Given the description of an element on the screen output the (x, y) to click on. 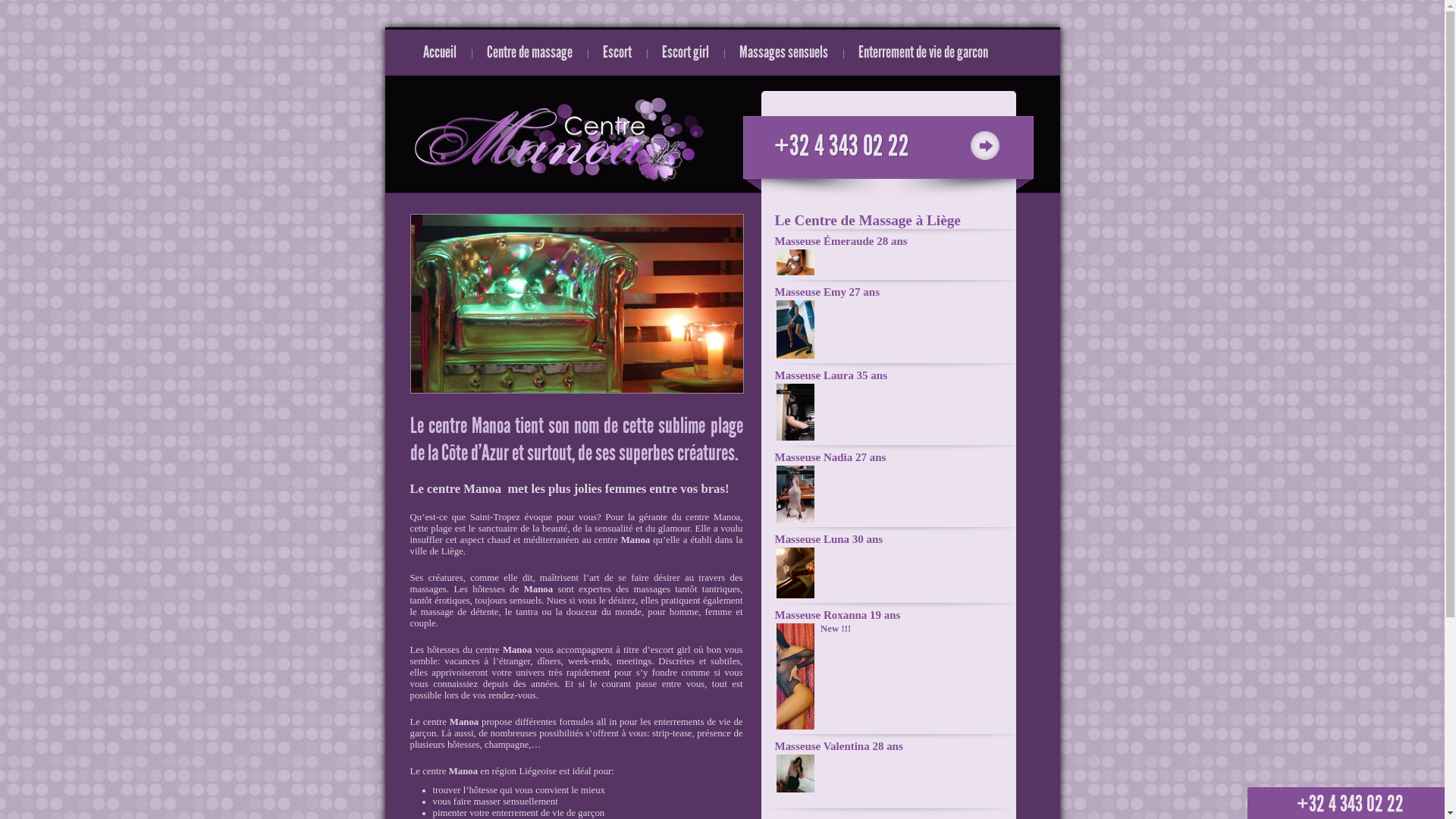
Masseuse Luna 30 ans Element type: hover (795, 594)
Masseuse Nadia 27 ans Element type: hover (795, 519)
Centre de massage Element type: text (529, 47)
Accueil Element type: text (439, 47)
Massages sensuels Element type: text (782, 47)
Masseuse Valentina  28 ans Element type: hover (795, 789)
Masseuse Laura  35 ans Element type: hover (795, 437)
Centre Manoa Element type: hover (559, 139)
Enterrement de vie de garcon Element type: text (923, 47)
Escort Element type: text (616, 47)
Escort girl Element type: text (684, 47)
Masseuse Emy 27 ans Element type: hover (795, 355)
Masseuse Roxanna  19 ans Element type: hover (795, 726)
